Given the description of an element on the screen output the (x, y) to click on. 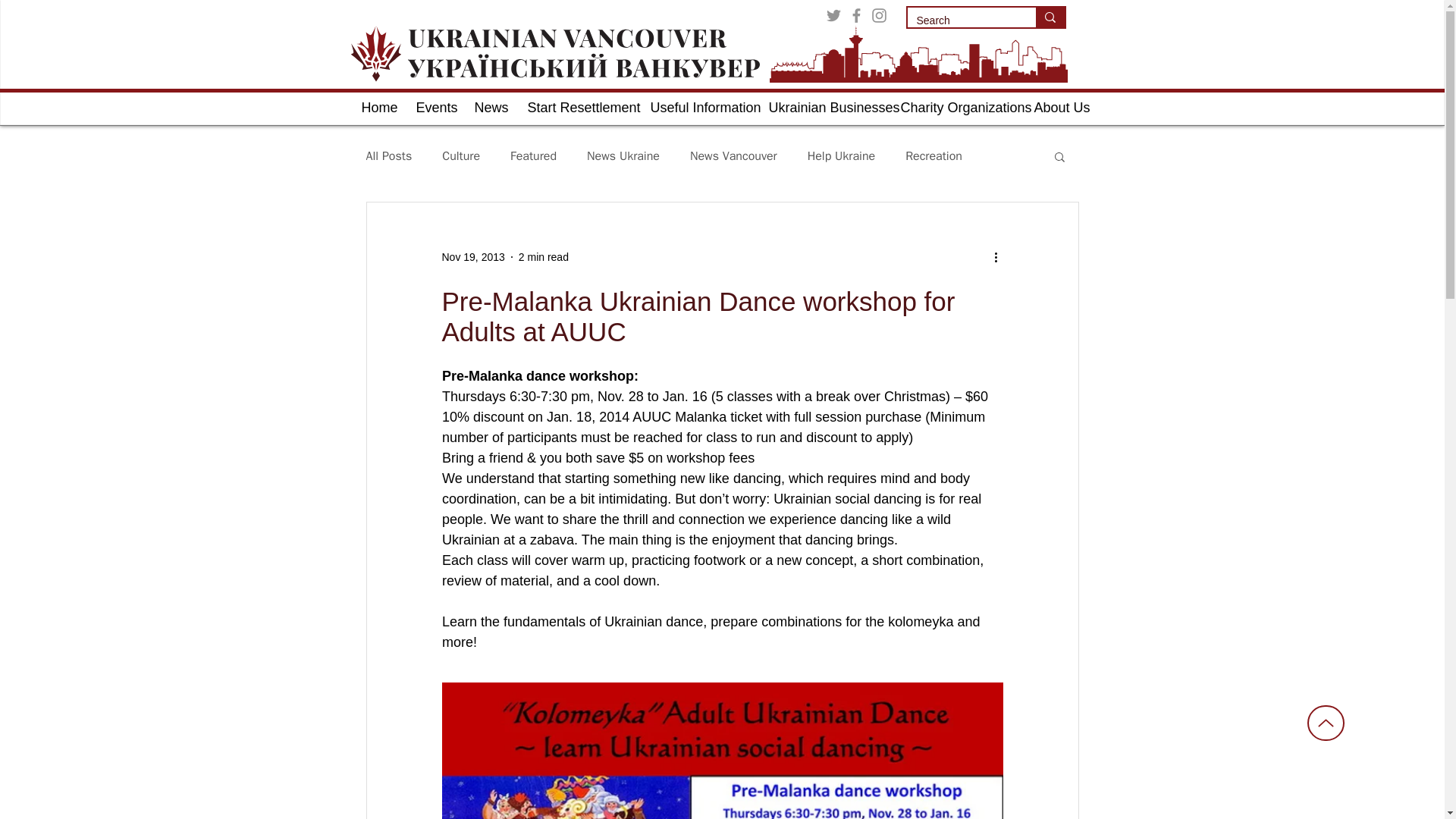
Home (377, 107)
News (489, 107)
Help Ukraine (841, 156)
News Vancouver (733, 156)
Recreation (933, 156)
Start Resettlement (577, 107)
All Posts (388, 156)
Culture (461, 156)
Events (433, 107)
Useful Information (698, 107)
2 min read (543, 256)
About Us (1057, 107)
Featured (533, 156)
News Ukraine (622, 156)
Charity Organizations (955, 107)
